Given the description of an element on the screen output the (x, y) to click on. 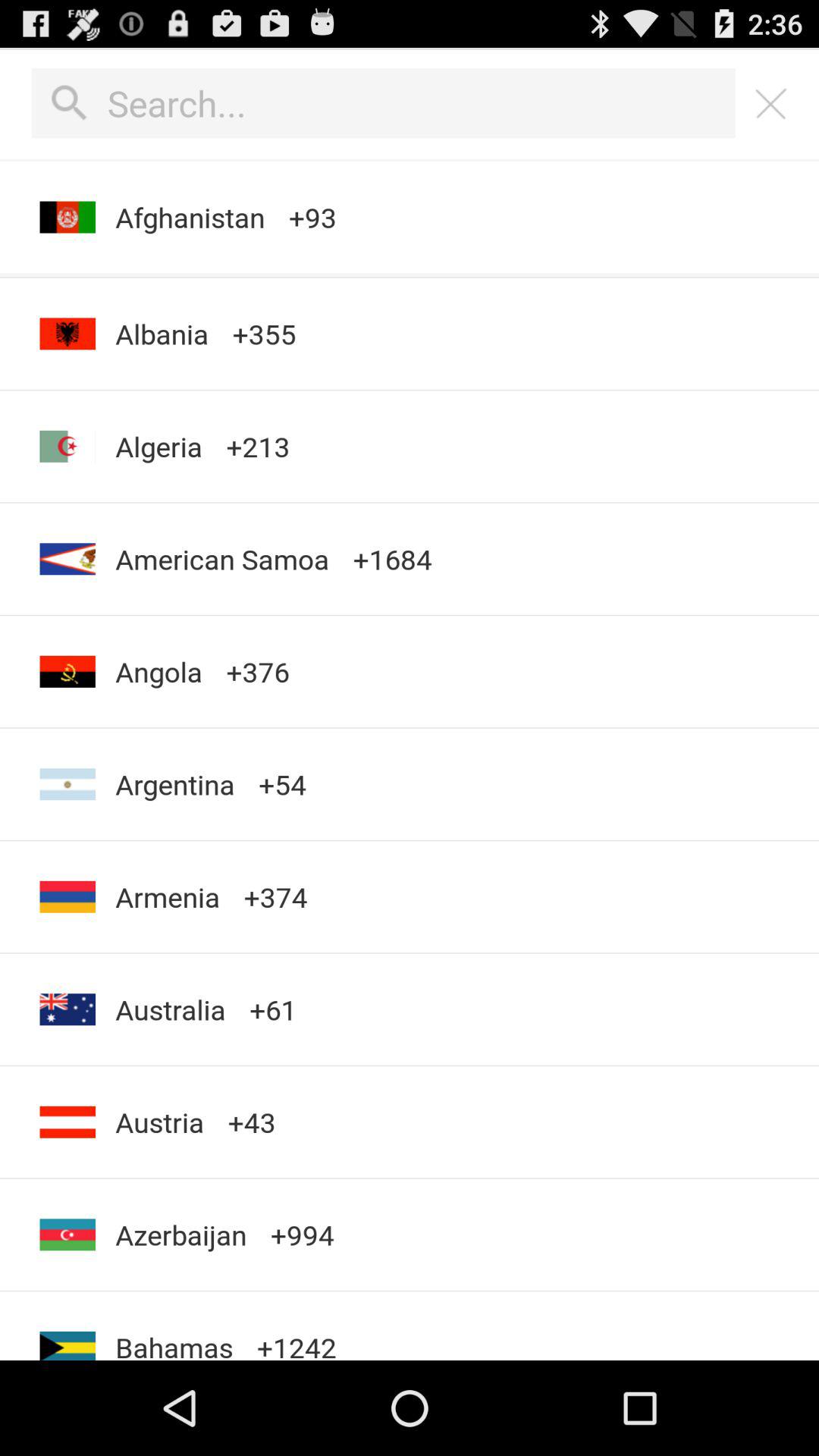
flip to +355 item (264, 333)
